Given the description of an element on the screen output the (x, y) to click on. 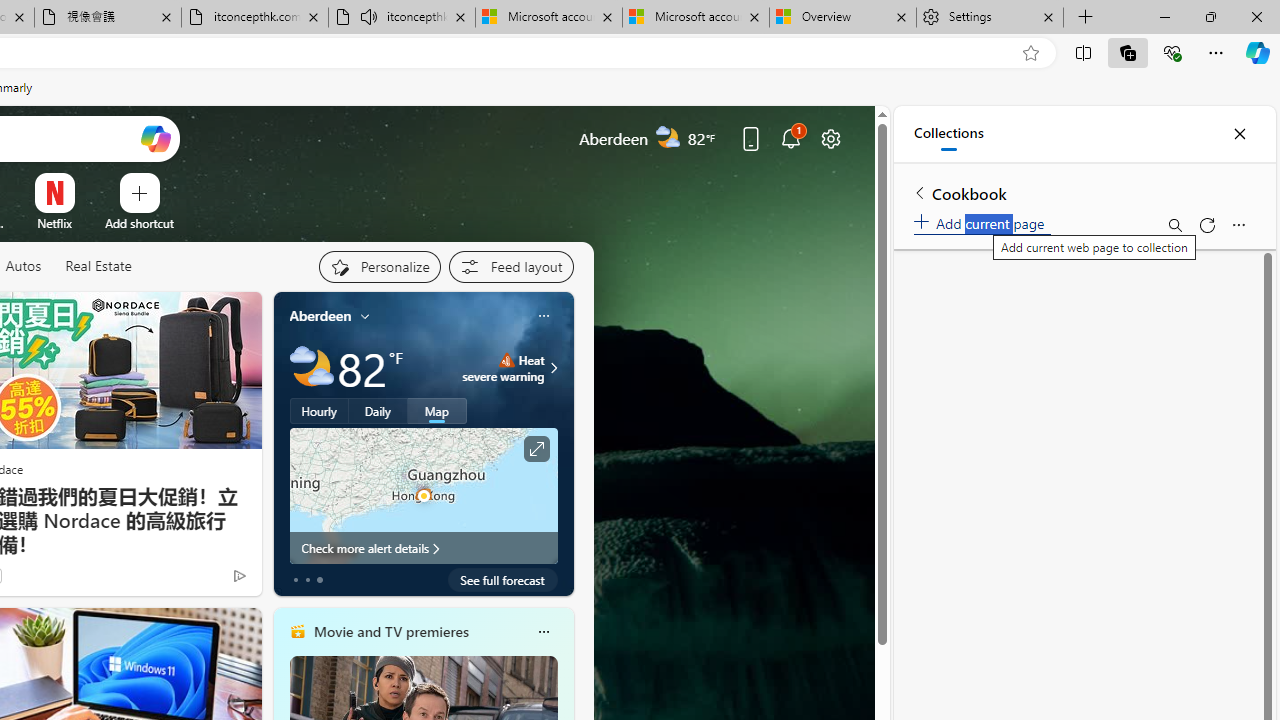
Daily (378, 411)
See full forecast (502, 579)
Add a site (139, 223)
Page settings (831, 138)
Netflix (54, 223)
My location (365, 315)
Partly cloudy (311, 368)
